Given the description of an element on the screen output the (x, y) to click on. 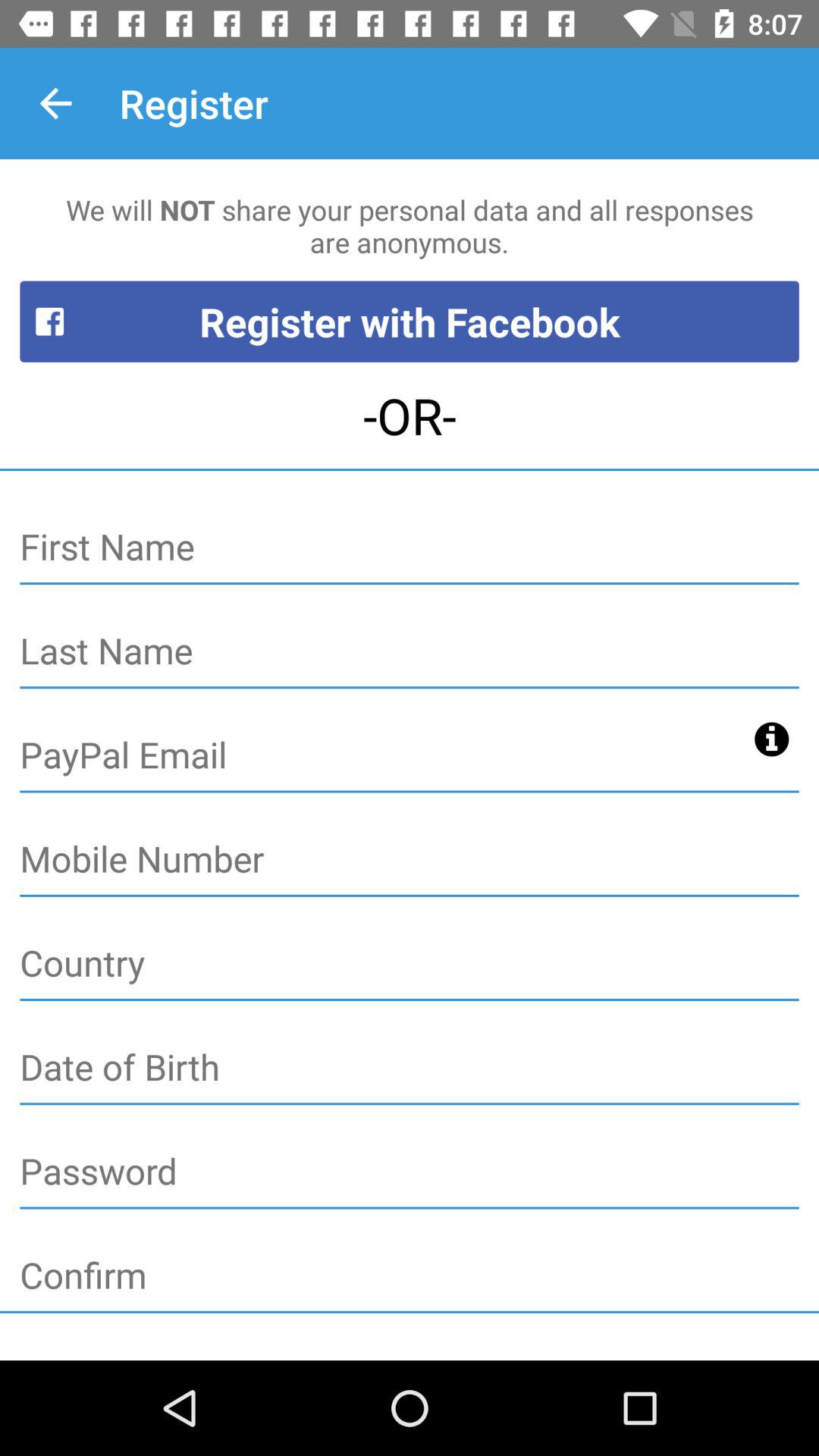
enter first name (409, 547)
